Given the description of an element on the screen output the (x, y) to click on. 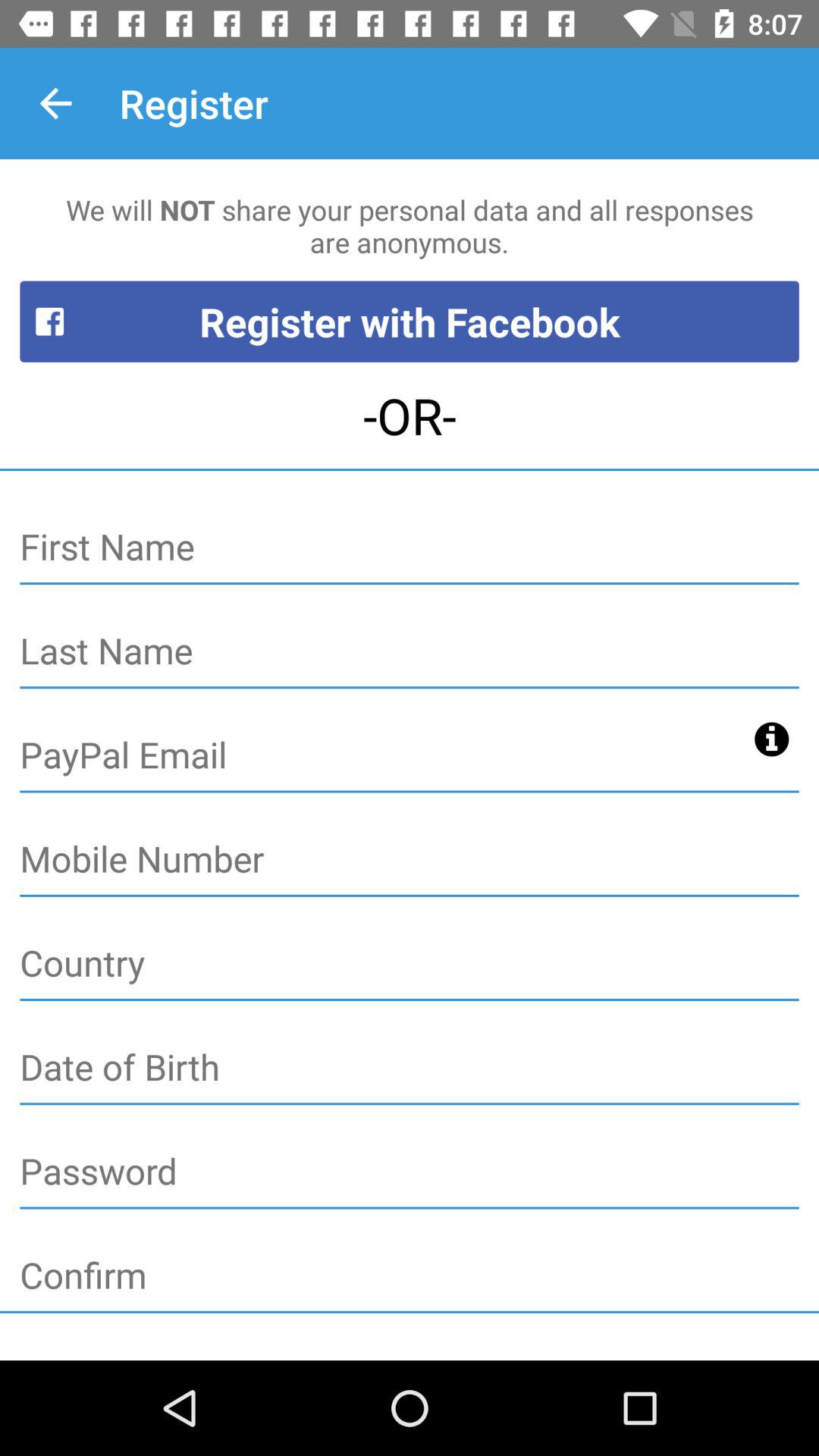
enter first name (409, 547)
